Given the description of an element on the screen output the (x, y) to click on. 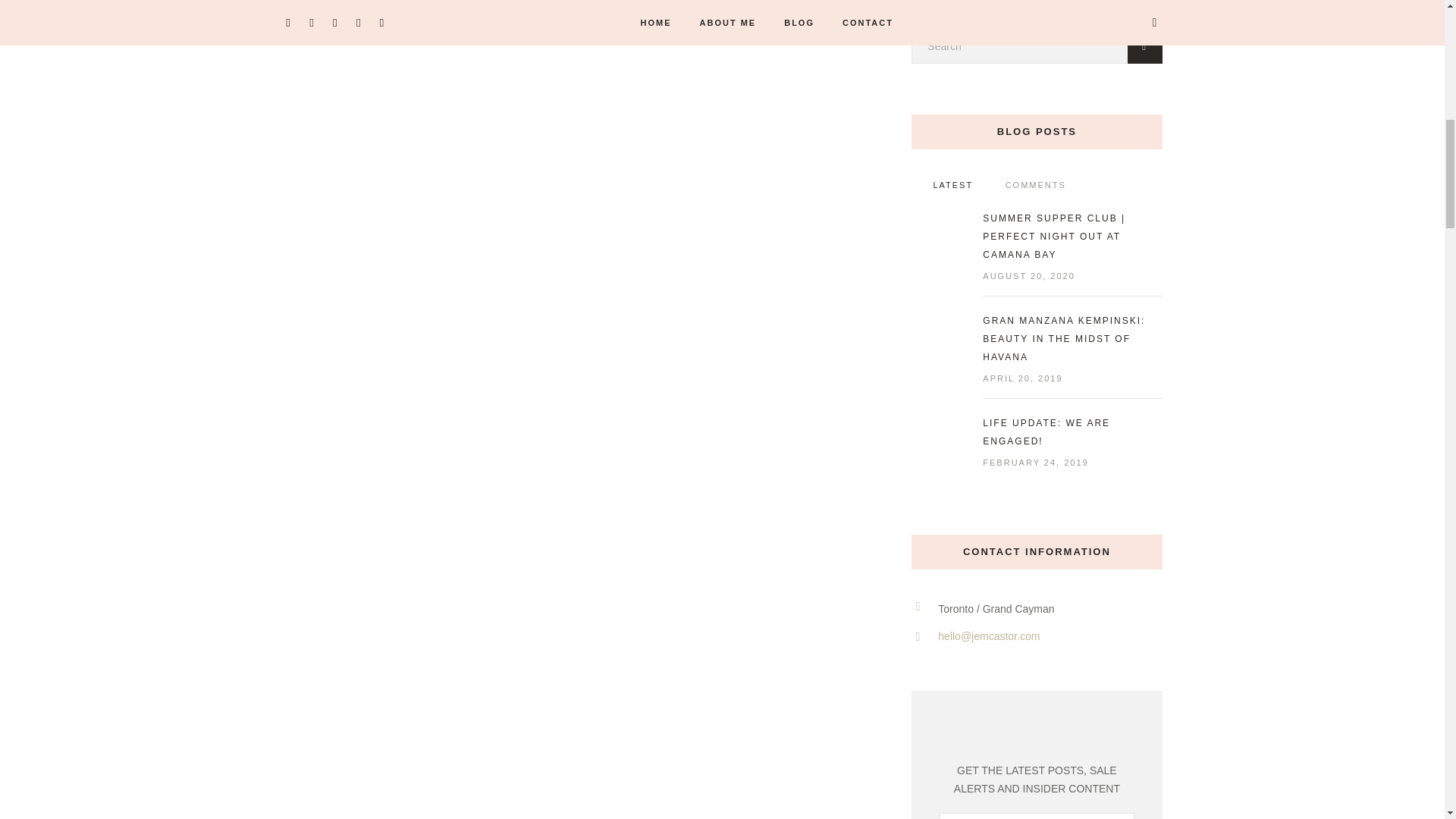
Splash of Pink Meets Fringe (570, 60)
